Given the description of an element on the screen output the (x, y) to click on. 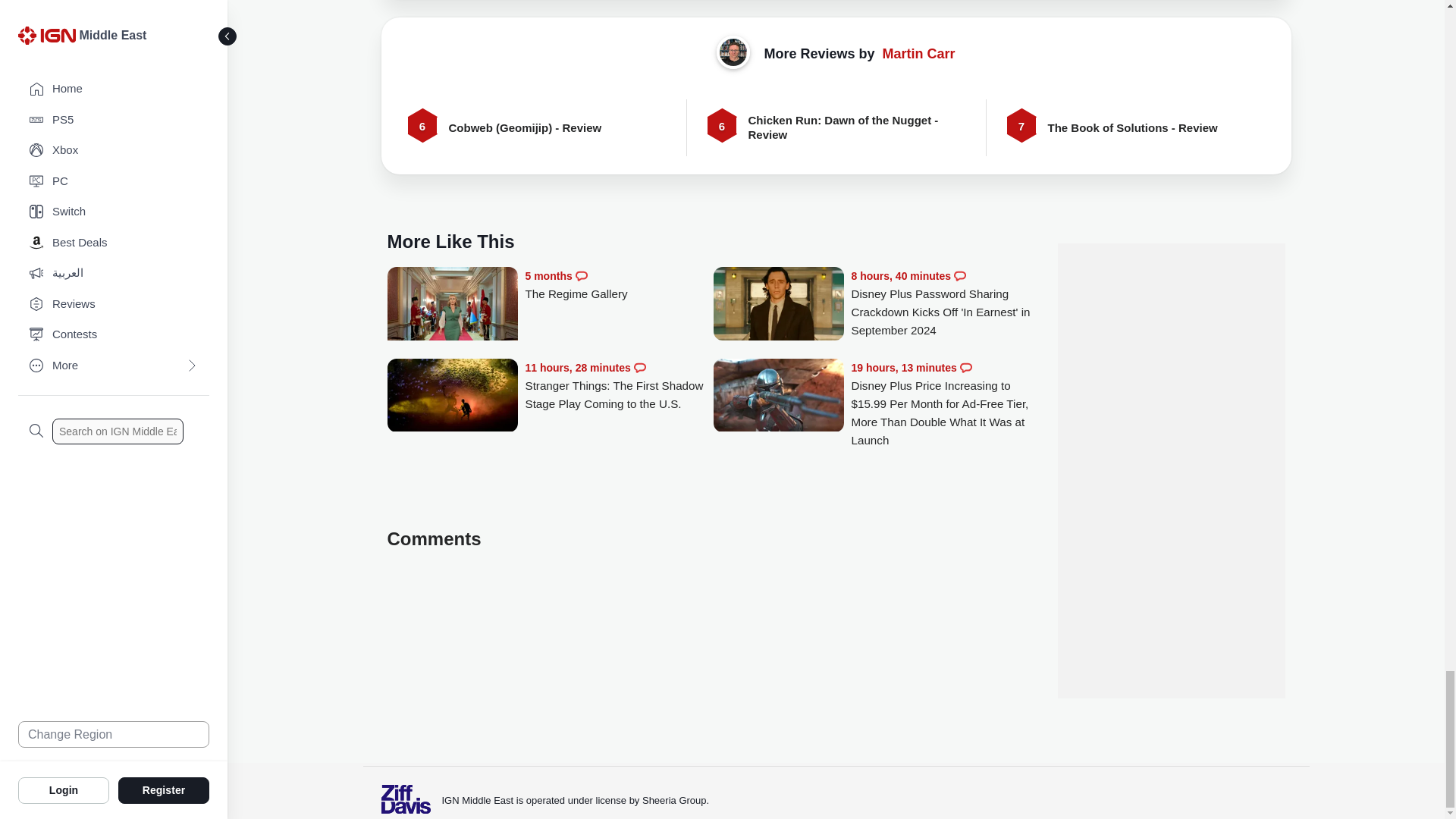
Comments (639, 367)
The Regime Gallery (618, 284)
The Regime Gallery (451, 311)
Comments (959, 275)
Comments (581, 275)
